Given the description of an element on the screen output the (x, y) to click on. 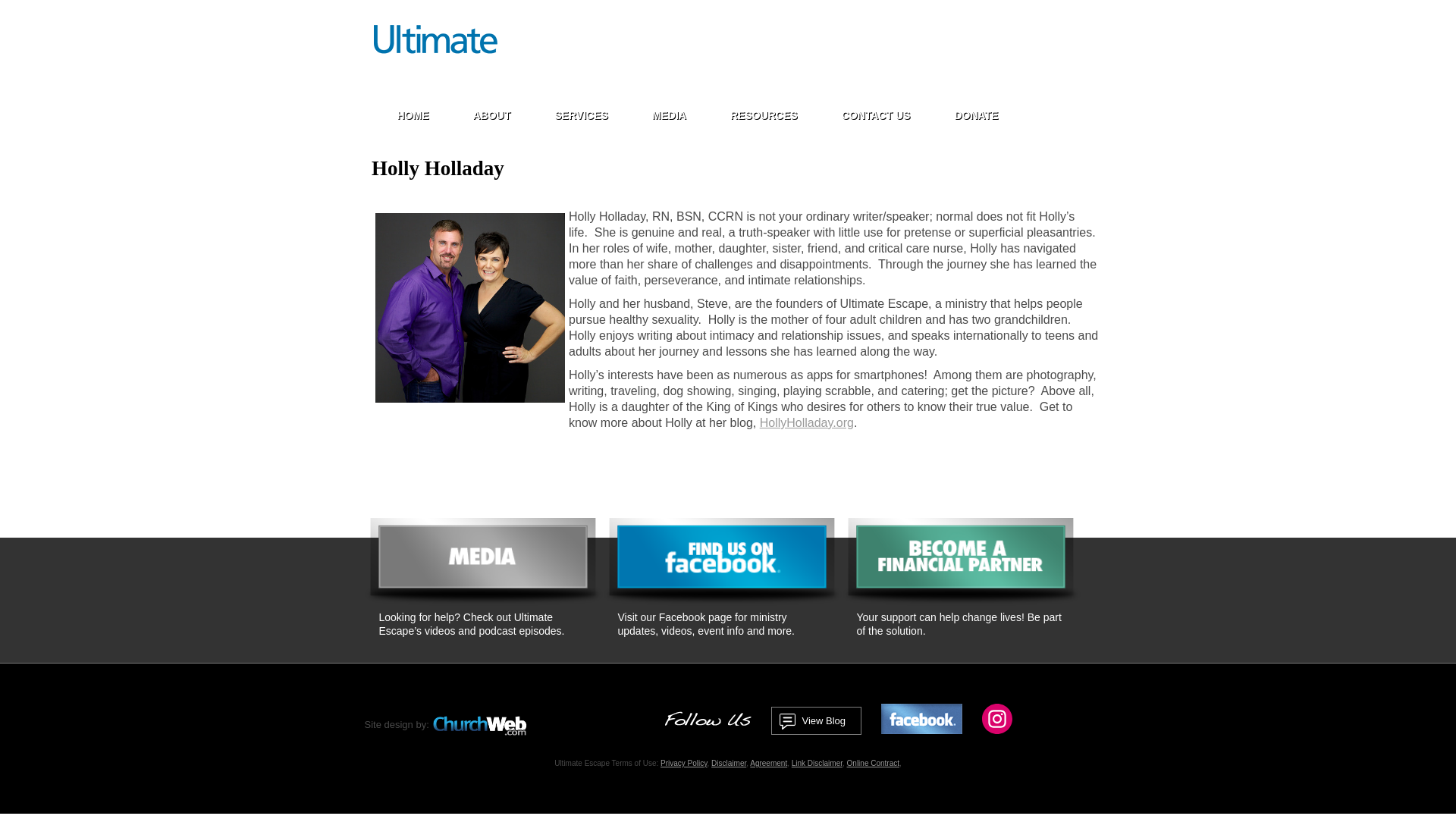
DONATE (976, 114)
Privacy Policy (684, 763)
MEDIA (668, 114)
Agreement (768, 763)
RESOURCES (763, 114)
ABOUT (491, 114)
View Blog (815, 720)
Link Disclaimer (817, 763)
CONTACT US (876, 114)
HollyHolladay.org (806, 422)
SERVICES (580, 114)
Disclaimer (728, 763)
HOME (412, 114)
